Given the description of an element on the screen output the (x, y) to click on. 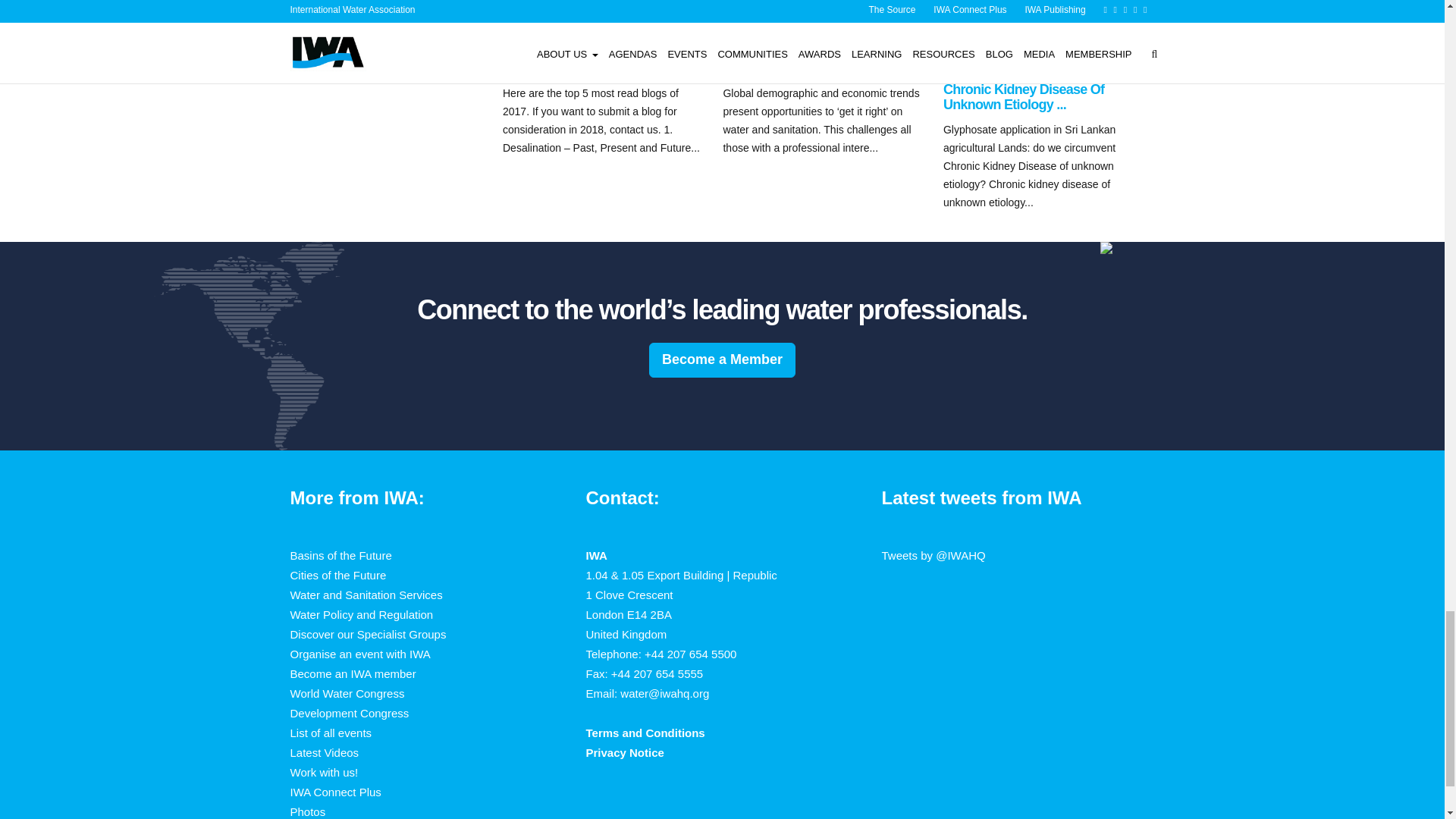
Top 5 Most Read Blogs Of 2017 (595, 68)
Posts by IWA (510, 48)
Posts by Ger Bergkamp (759, 48)
IWA (510, 48)
Posts by Dr. Buddhika Gunawardana and Prof. Mahesh Jayaweera (1037, 53)
